Given the description of an element on the screen output the (x, y) to click on. 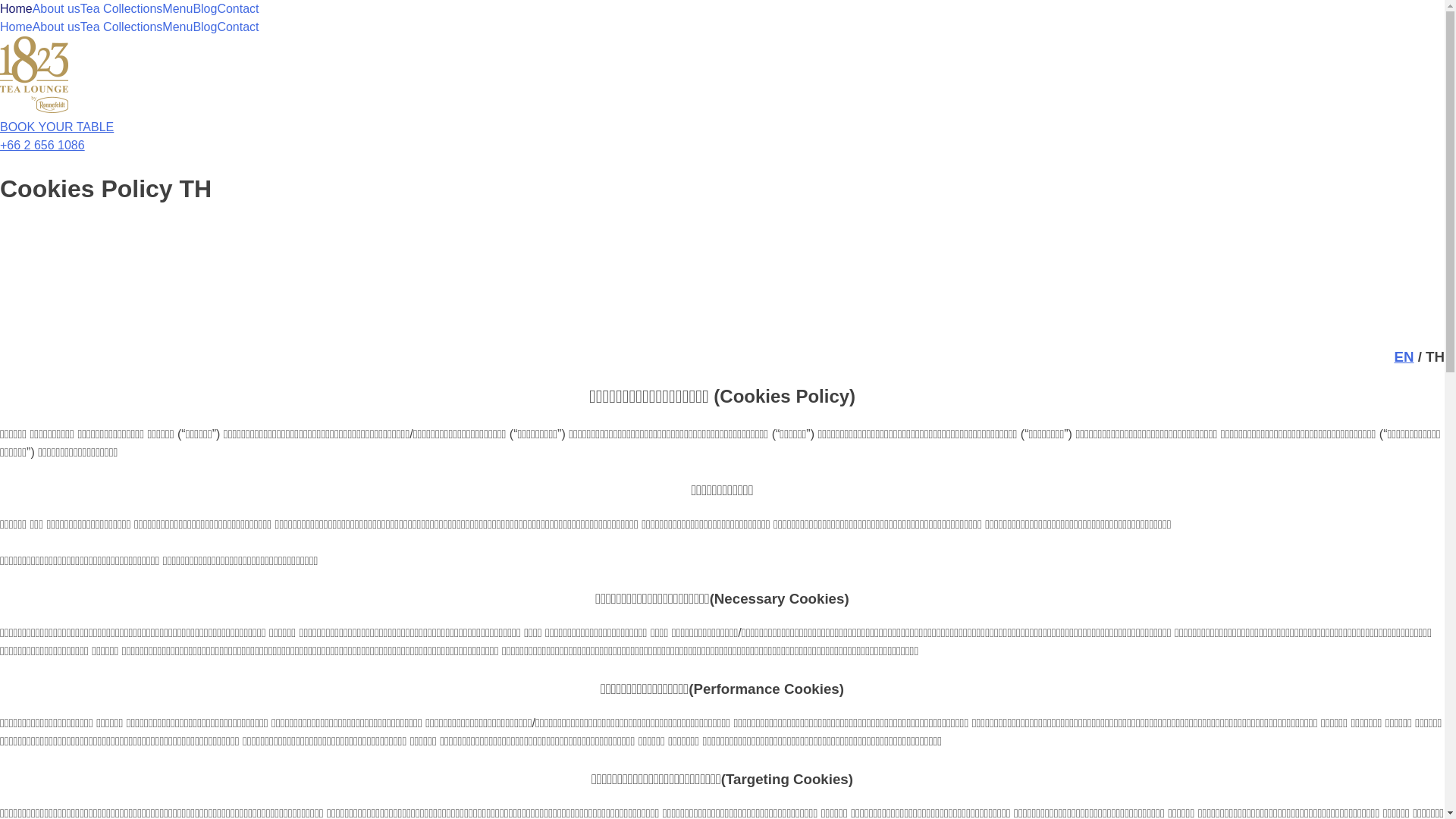
EN Element type: text (1403, 356)
Contact Element type: text (237, 9)
Menu Element type: text (177, 9)
Menu Element type: text (177, 27)
About us Element type: text (56, 27)
Tea Collections Element type: text (121, 9)
Blog Element type: text (204, 27)
Blog Element type: text (204, 9)
Contact Element type: text (237, 27)
Tea Collections Element type: text (121, 27)
About us Element type: text (56, 9)
Home Element type: text (16, 27)
BOOK YOUR TABLE Element type: text (56, 126)
Home Element type: text (16, 9)
+66 2 656 1086 Element type: text (42, 144)
